Given the description of an element on the screen output the (x, y) to click on. 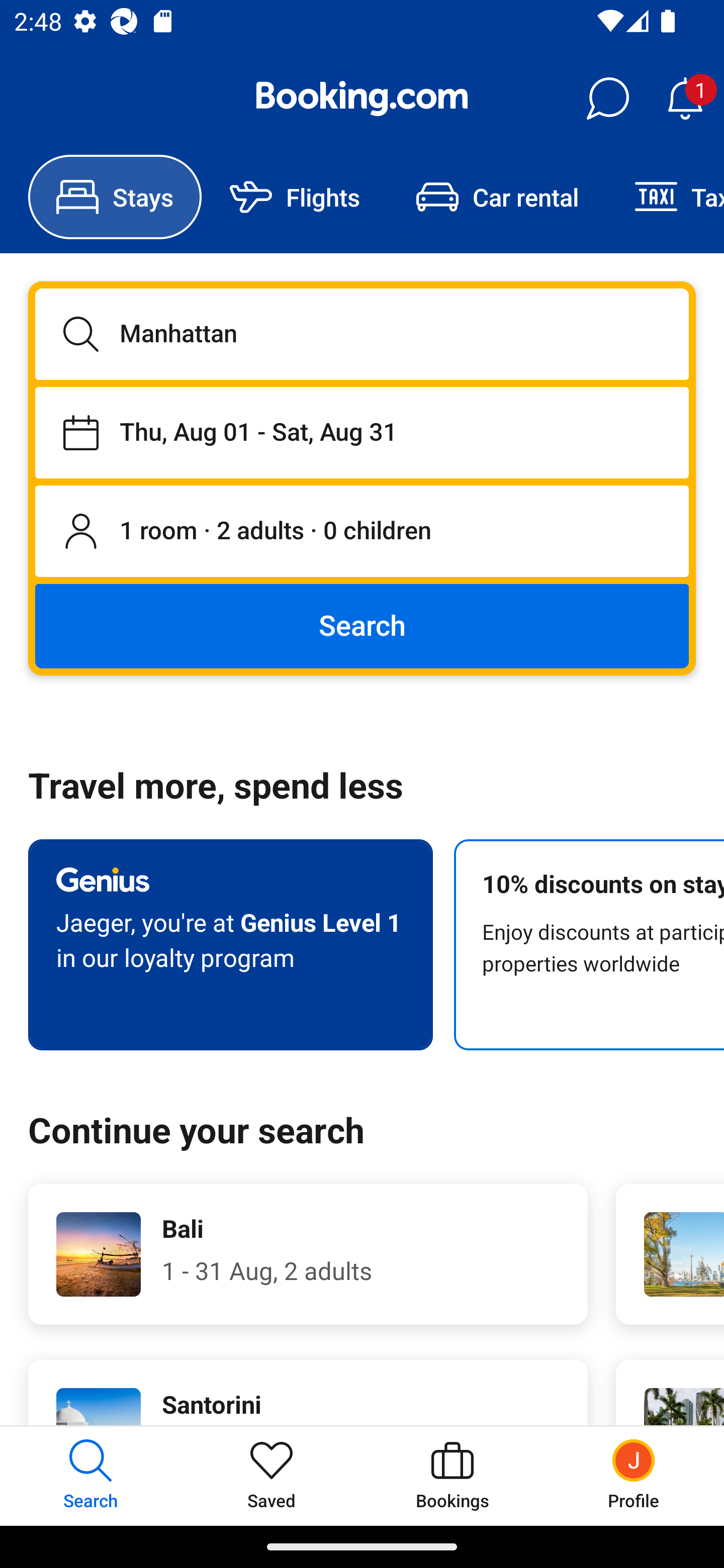
Messages (607, 98)
Notifications (685, 98)
Stays (114, 197)
Flights (294, 197)
Car rental (497, 197)
Taxi (665, 197)
Manhattan (361, 333)
Staying from Thu, Aug 01 until Sat, Aug 31 (361, 432)
1 room, 2 adults, 0 children (361, 531)
Search (361, 625)
Bali 1 - 31 Aug, 2 adults (307, 1253)
Saved (271, 1475)
Bookings (452, 1475)
Profile (633, 1475)
